Given the description of an element on the screen output the (x, y) to click on. 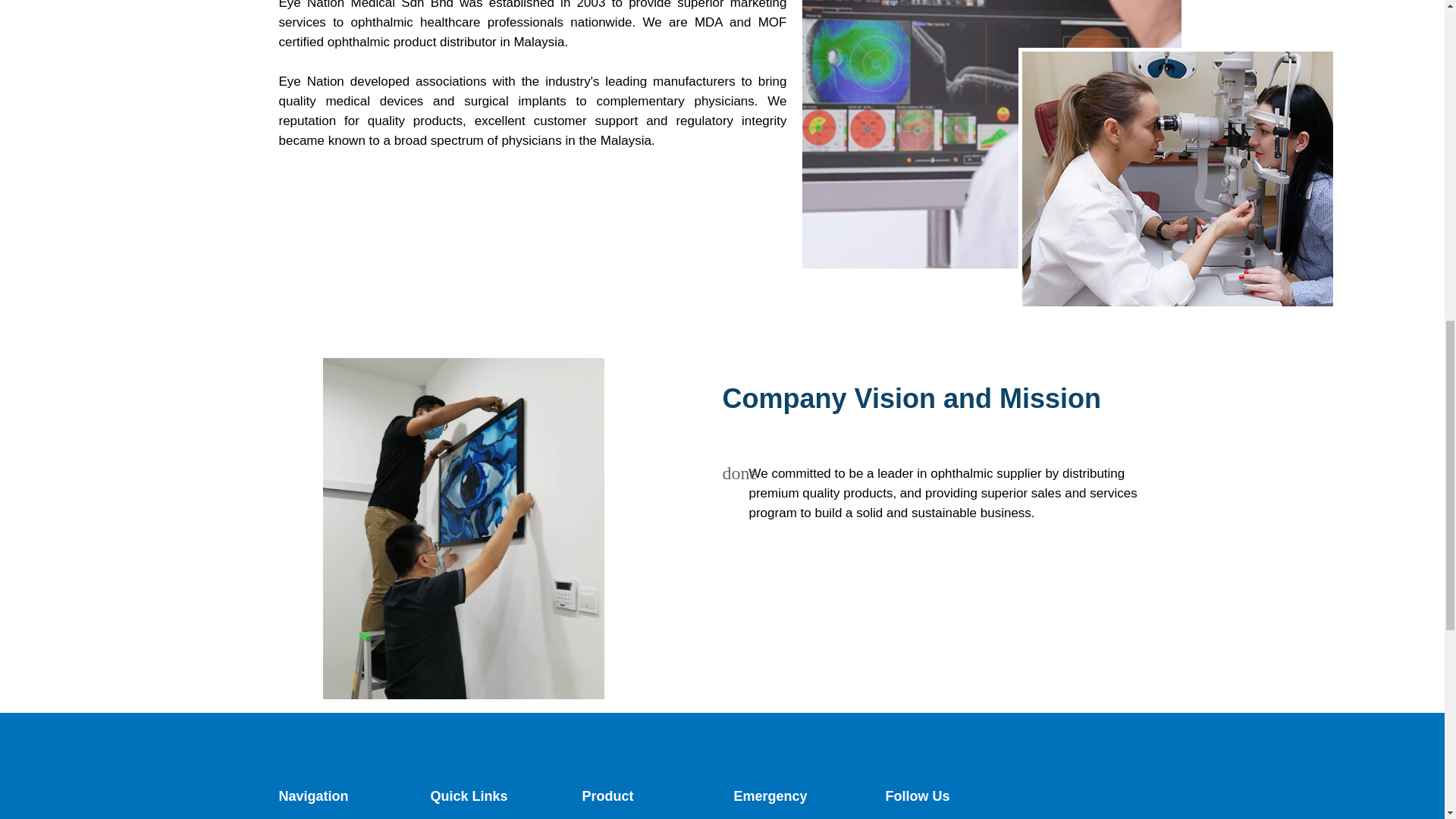
Appointment (765, 817)
Home (293, 817)
Refraction (607, 817)
Home (293, 817)
Refraction (607, 817)
